Given the description of an element on the screen output the (x, y) to click on. 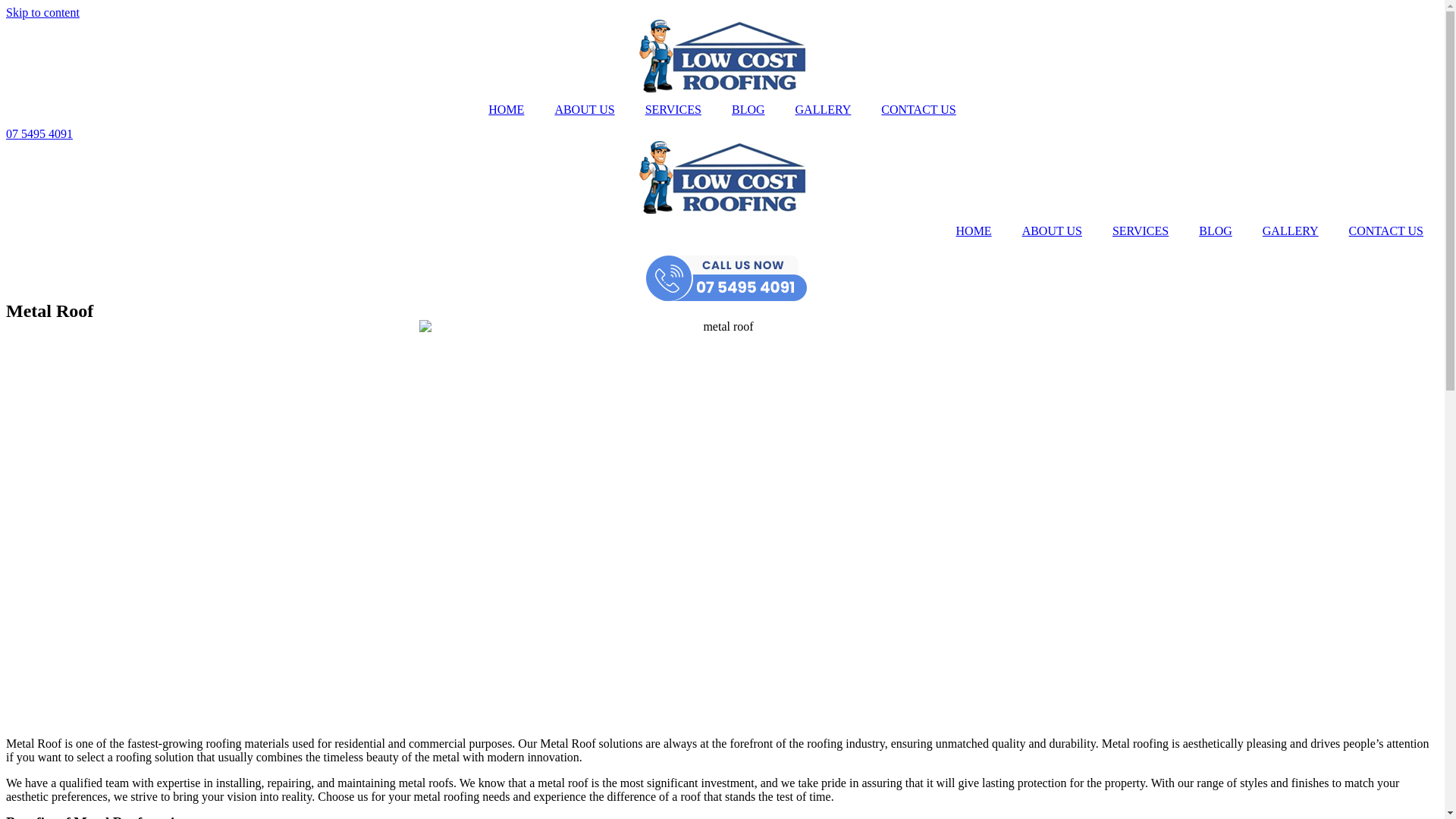
BLOG Element type: text (748, 109)
SERVICES Element type: text (1140, 230)
ABOUT US Element type: text (1052, 230)
HOME Element type: text (974, 230)
CONTACT US Element type: text (1385, 230)
SERVICES Element type: text (673, 109)
GALLERY Element type: text (823, 109)
ABOUT US Element type: text (584, 109)
CONTACT US Element type: text (918, 109)
HOME Element type: text (506, 109)
GALLERY Element type: text (1290, 230)
Skip to content Element type: text (42, 12)
07 5495 4091 Element type: text (39, 133)
BLOG Element type: text (1215, 230)
